Given the description of an element on the screen output the (x, y) to click on. 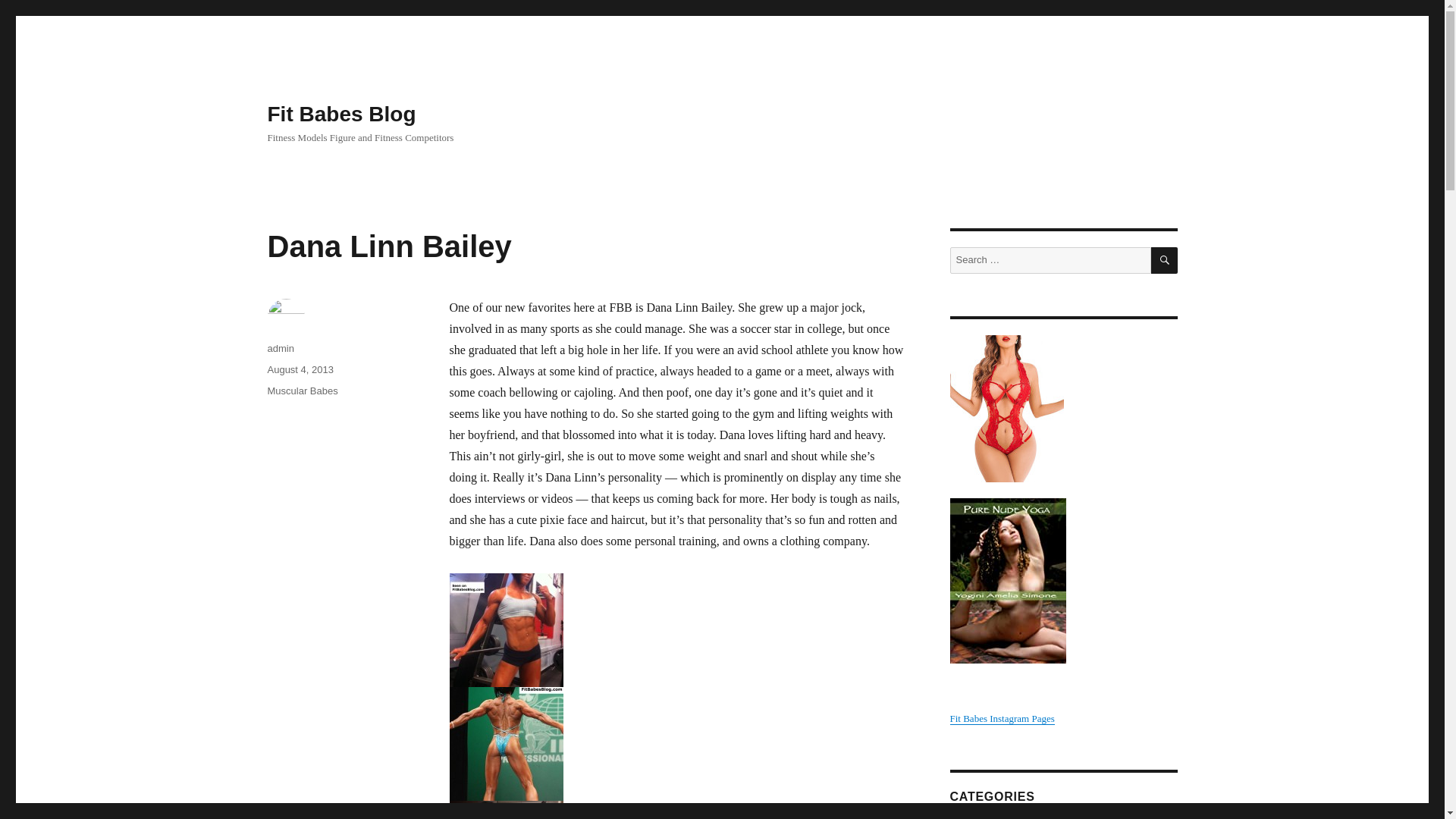
admin (280, 348)
Fit Babes Instagram Pages (1001, 717)
SEARCH (1164, 260)
Fit Babes Blog (340, 114)
August 4, 2013 (299, 369)
Muscular Babes (301, 390)
